Given the description of an element on the screen output the (x, y) to click on. 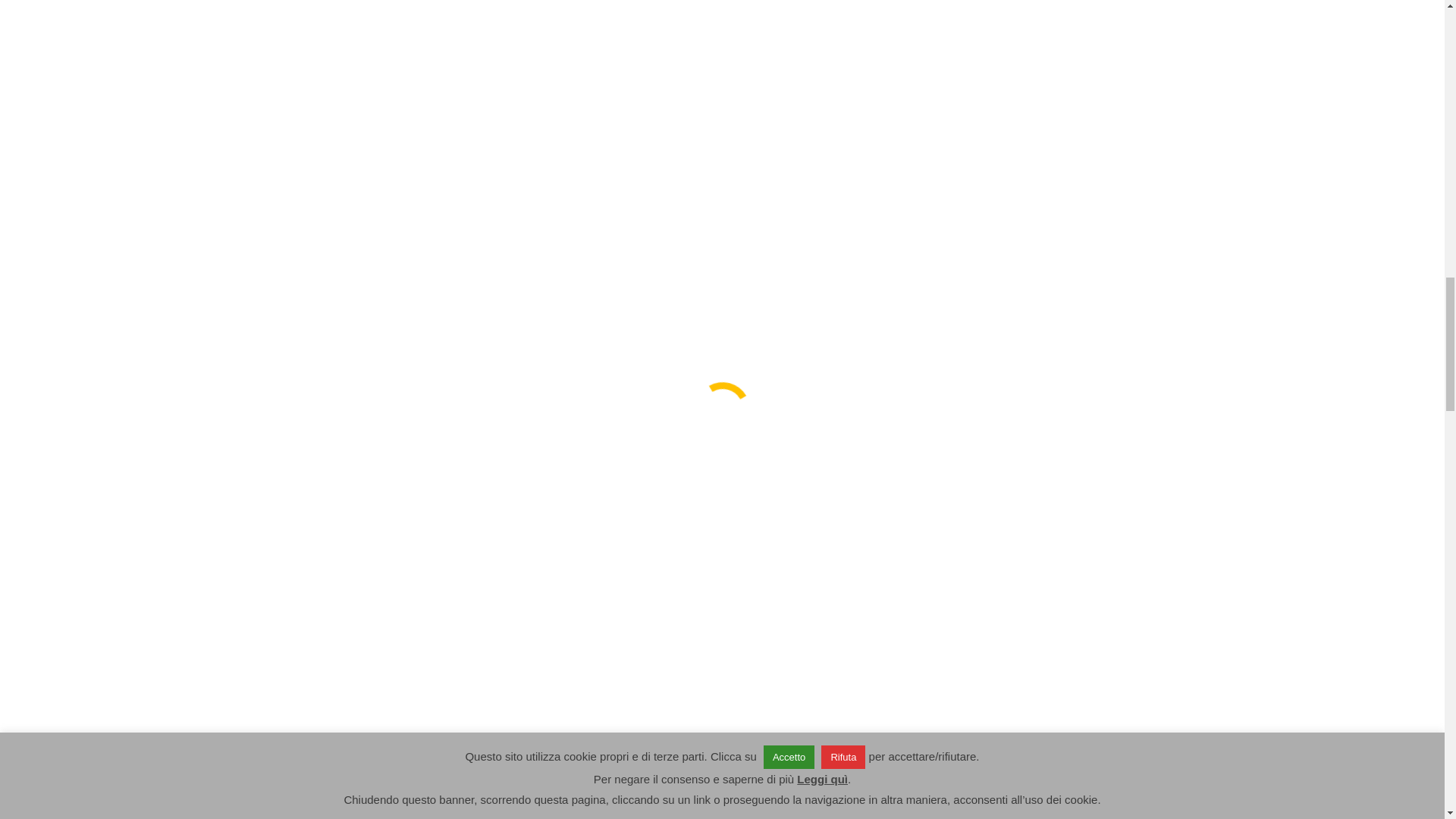
Invia (941, 382)
